Given the description of an element on the screen output the (x, y) to click on. 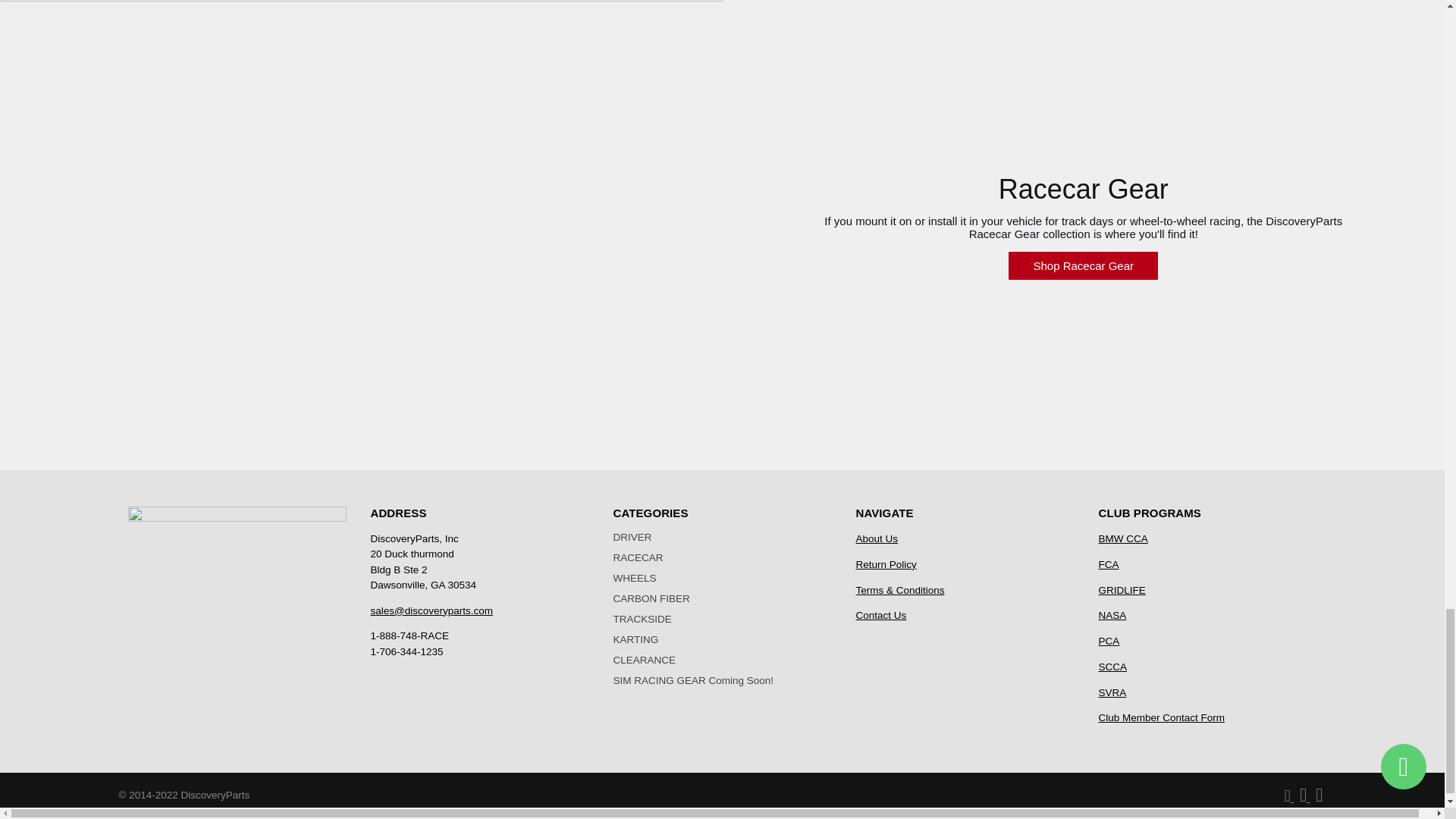
Contact (880, 614)
Terms and Conditions (899, 590)
About Us (877, 538)
Return Policy (885, 564)
